Given the description of an element on the screen output the (x, y) to click on. 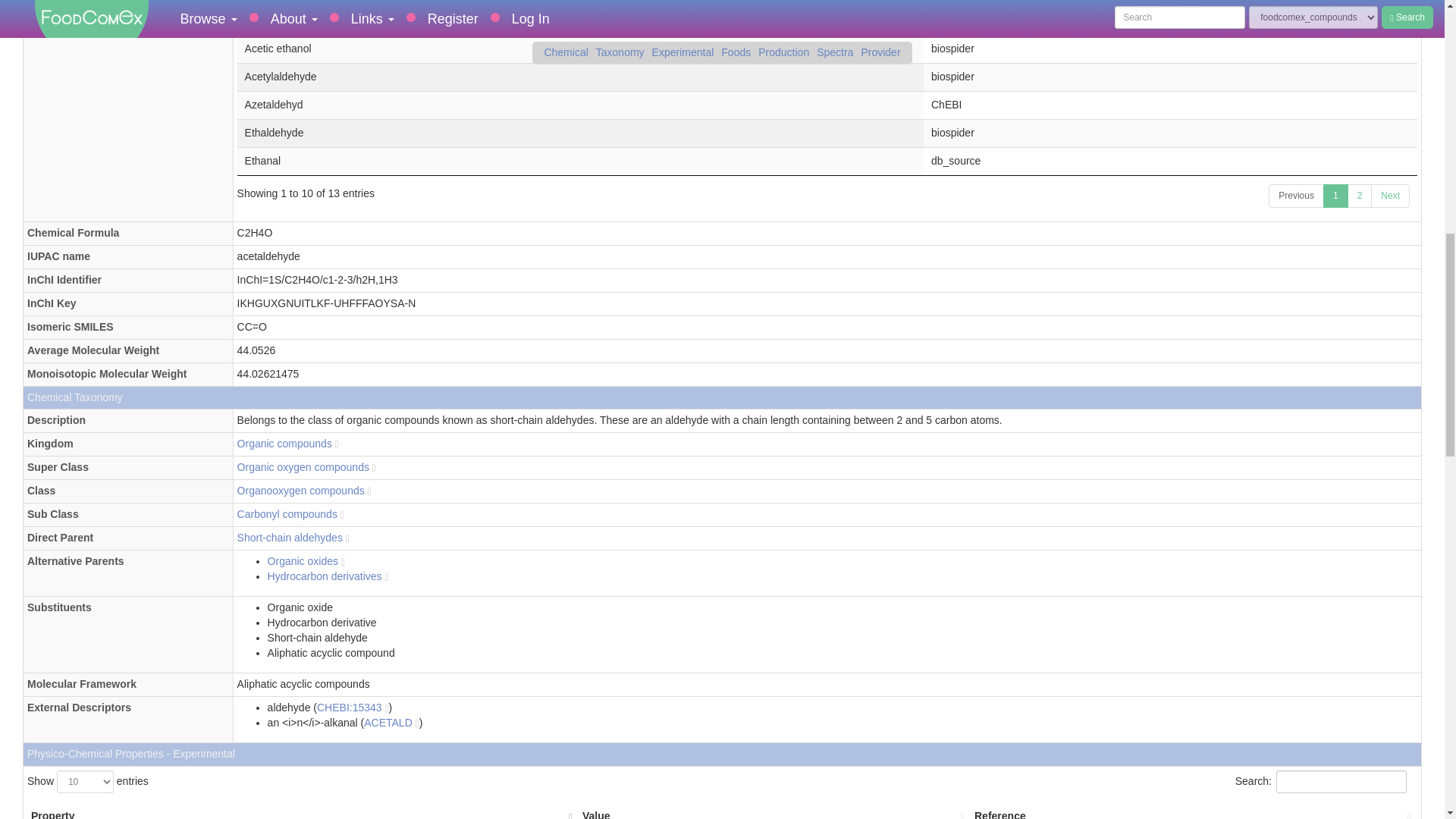
2 (1360, 196)
1 (1335, 196)
Previous (1295, 196)
